Given the description of an element on the screen output the (x, y) to click on. 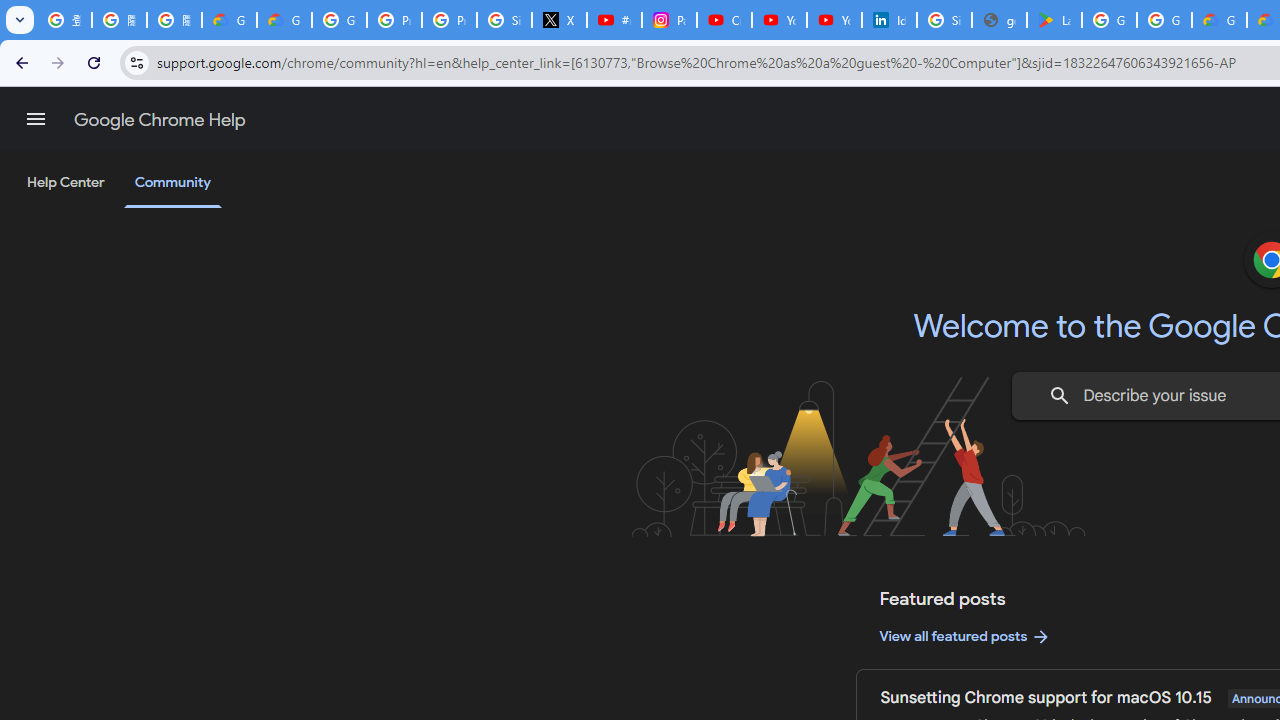
google_privacy_policy_en.pdf (998, 20)
Search (1059, 395)
Last Shelter: Survival - Apps on Google Play (1053, 20)
Forward (57, 62)
Back (19, 62)
Google Cloud Privacy Notice (229, 20)
Privacy Help Center - Policies Help (449, 20)
View site information (136, 62)
Reload (93, 62)
